Given the description of an element on the screen output the (x, y) to click on. 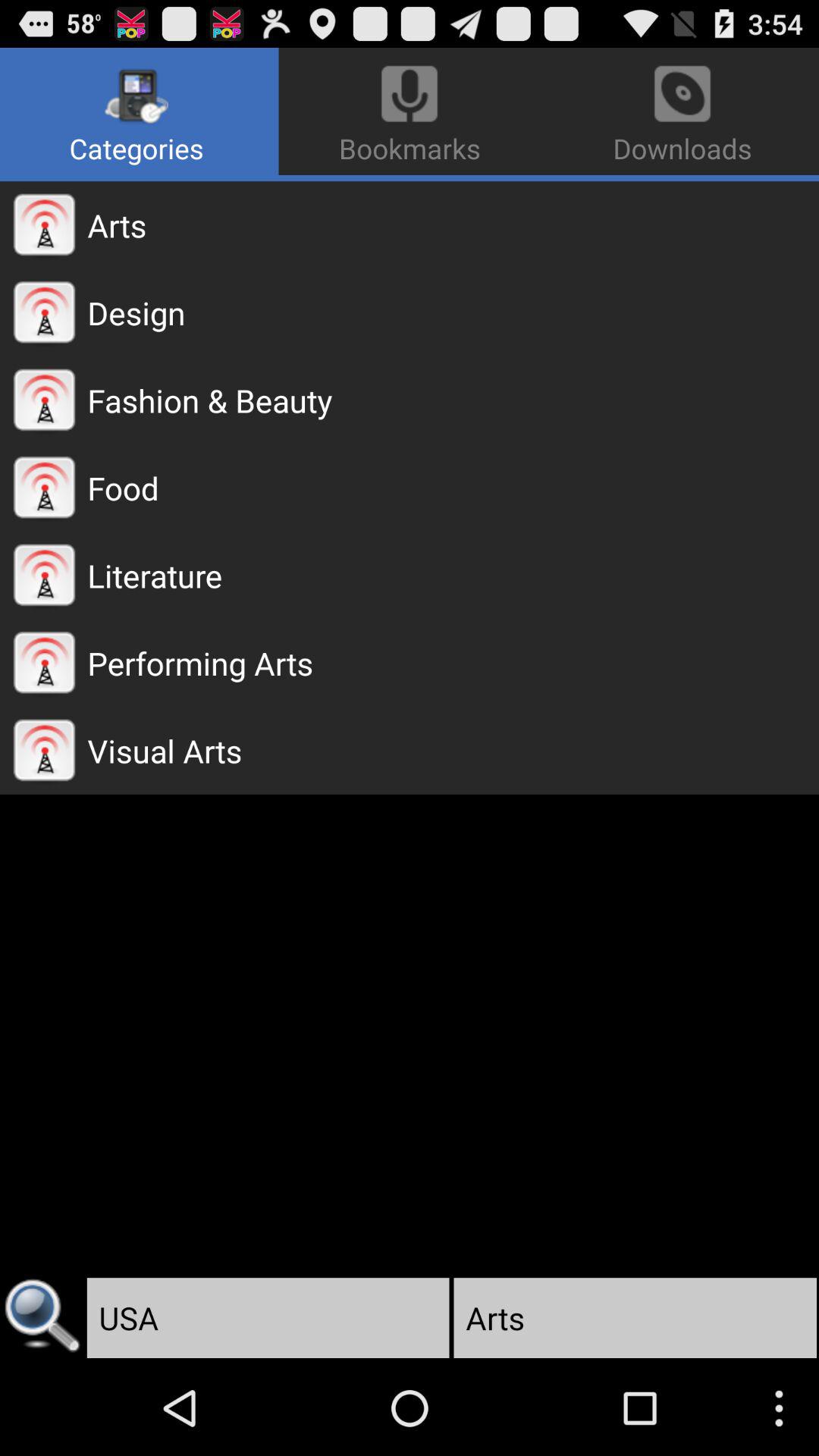
flip until performing arts (453, 662)
